Given the description of an element on the screen output the (x, y) to click on. 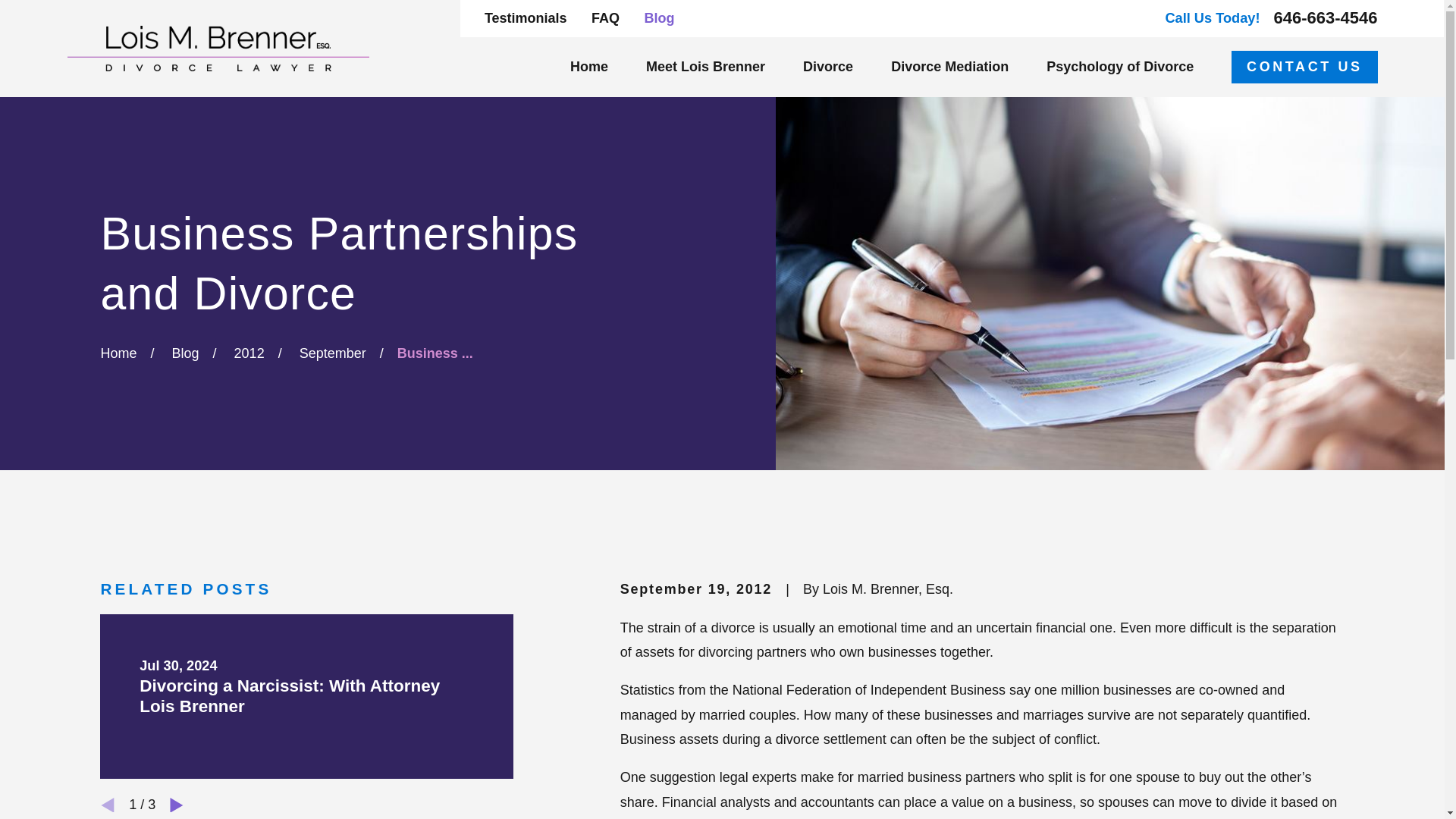
Go Home (118, 353)
Home (217, 48)
Psychology of Divorce (1119, 66)
FAQ (605, 17)
View previous item (107, 805)
Testimonials (525, 17)
Blog (658, 17)
Divorce (828, 66)
646-663-4546 (1325, 17)
View next item (176, 805)
